Given the description of an element on the screen output the (x, y) to click on. 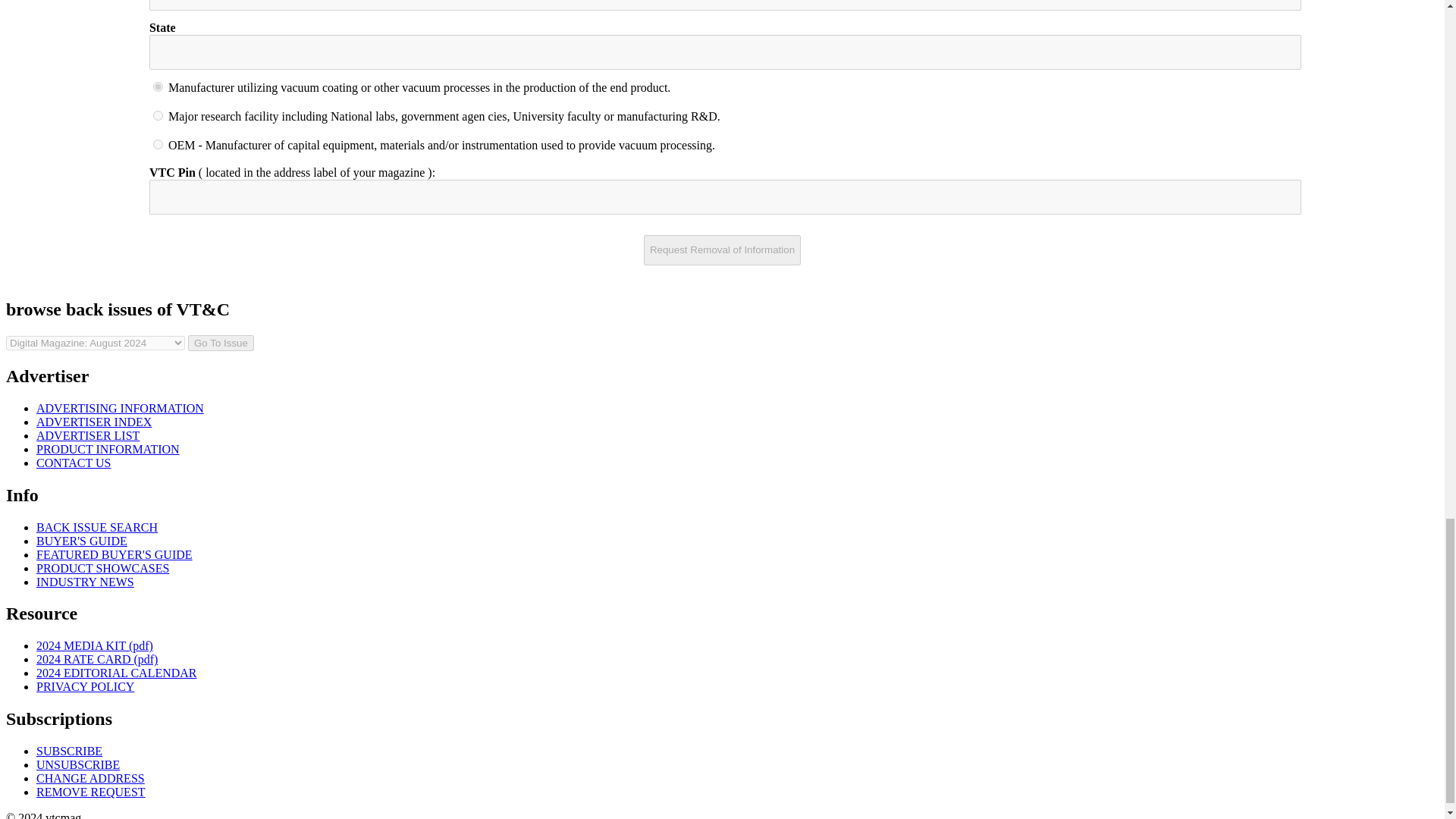
BUYER'S GUIDE (82, 540)
FEATURED BUYER'S GUIDE (114, 554)
Request Removal of Information (721, 250)
CONTACT US (73, 462)
PRIVACY POLICY (84, 686)
BACK ISSUE SEARCH (96, 526)
CHANGE ADDRESS (90, 778)
Major research facility (157, 115)
ADVERTISING INFORMATION (119, 408)
Go To Issue (220, 342)
